Given the description of an element on the screen output the (x, y) to click on. 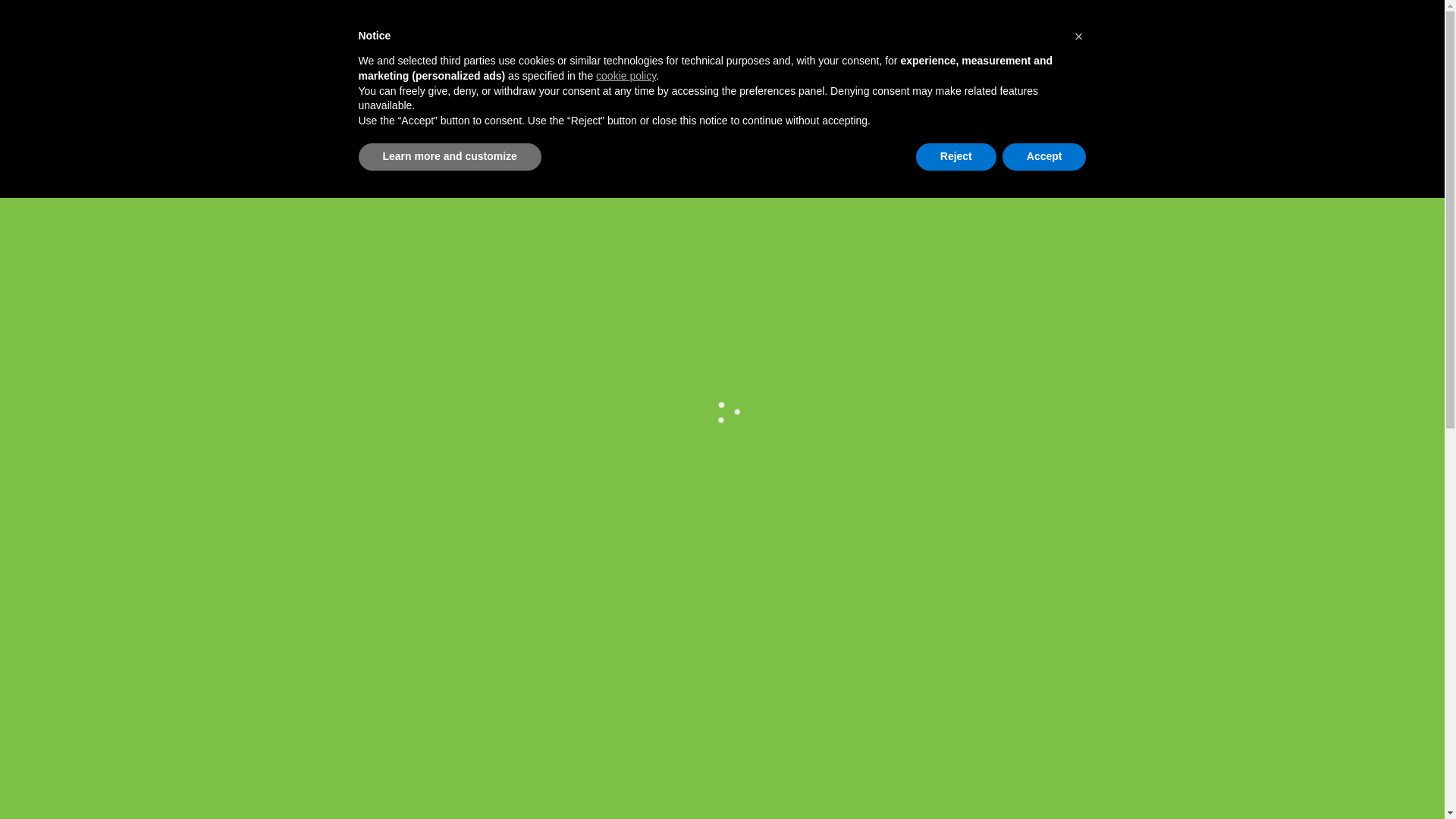
APPLICATIONS (499, 125)
IT (1110, 49)
Search (764, 40)
COMPANY (378, 125)
EN (1128, 49)
USED MACHINES (643, 125)
